Given the description of an element on the screen output the (x, y) to click on. 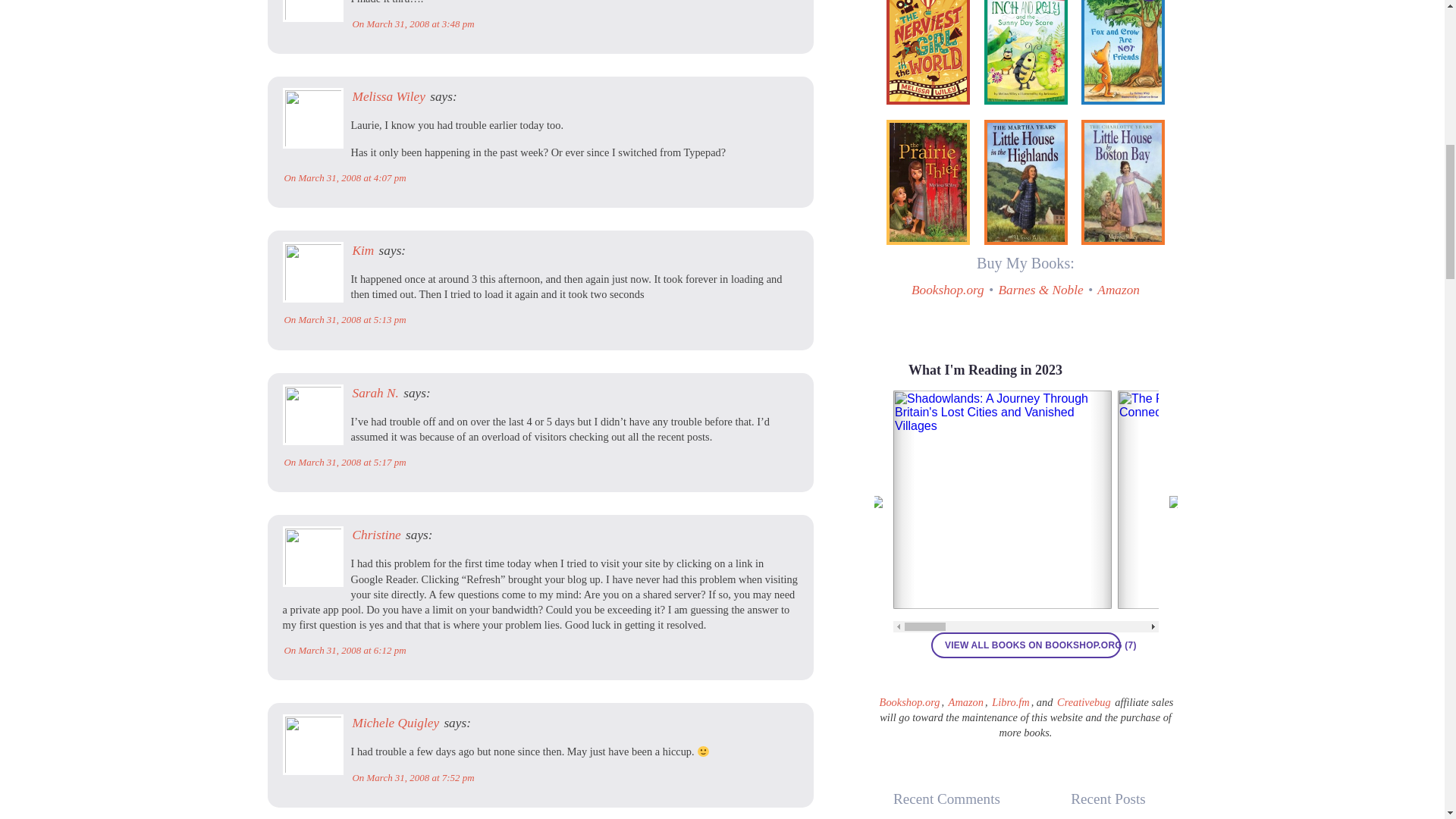
Kim (362, 250)
On March 31, 2008 at 4:07 pm (344, 177)
Melissa Wiley (388, 96)
Sarah N. (374, 392)
On March 31, 2008 at 5:13 pm (344, 319)
Christine (375, 534)
On March 31, 2008 at 7:52 pm (413, 777)
On March 31, 2008 at 6:12 pm (344, 650)
Michele Quigley (395, 722)
On March 31, 2008 at 3:48 pm (413, 23)
On March 31, 2008 at 5:17 pm (344, 461)
